Given the description of an element on the screen output the (x, y) to click on. 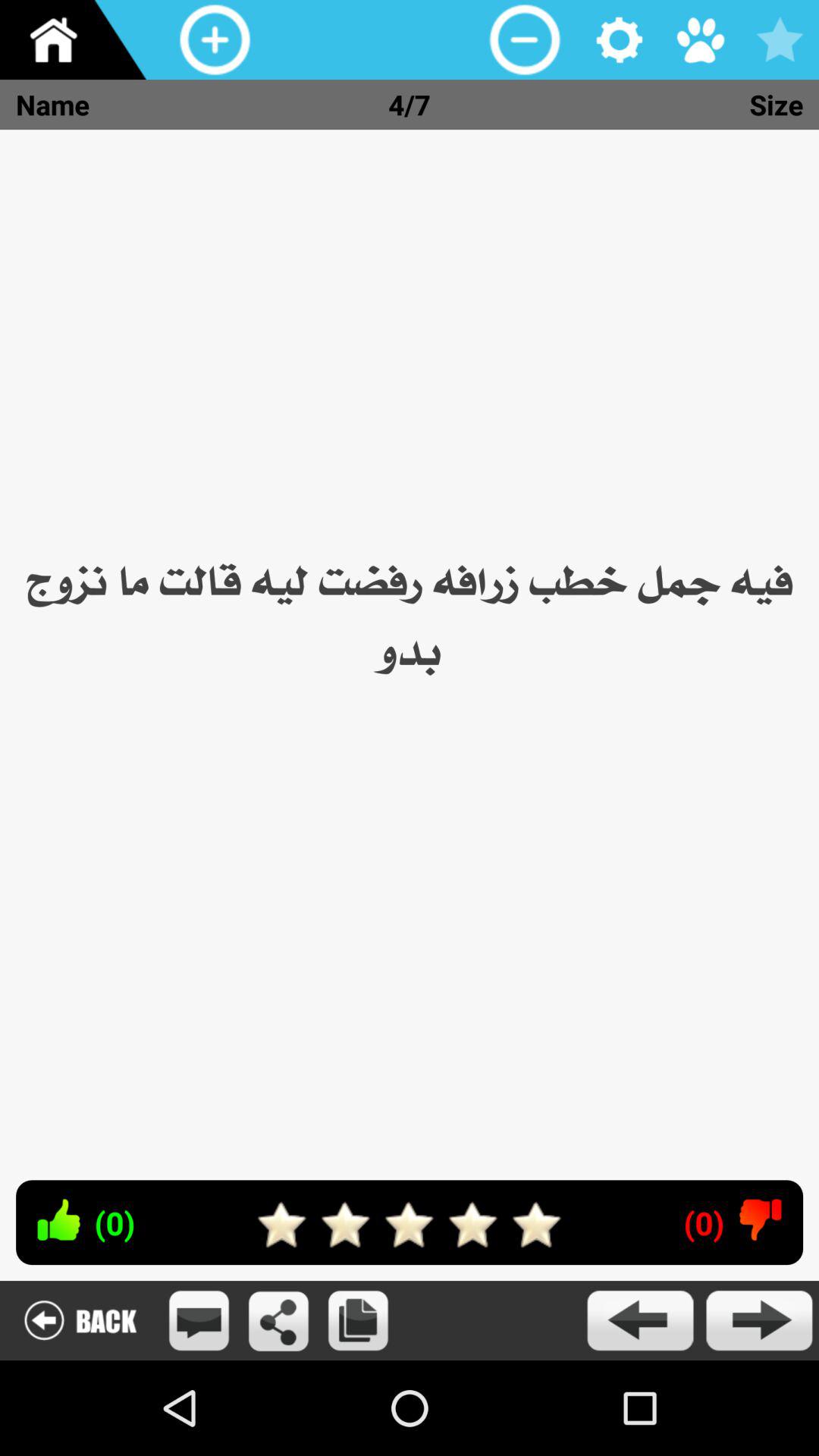
this button is to return to the main page of the application (79, 39)
